Given the description of an element on the screen output the (x, y) to click on. 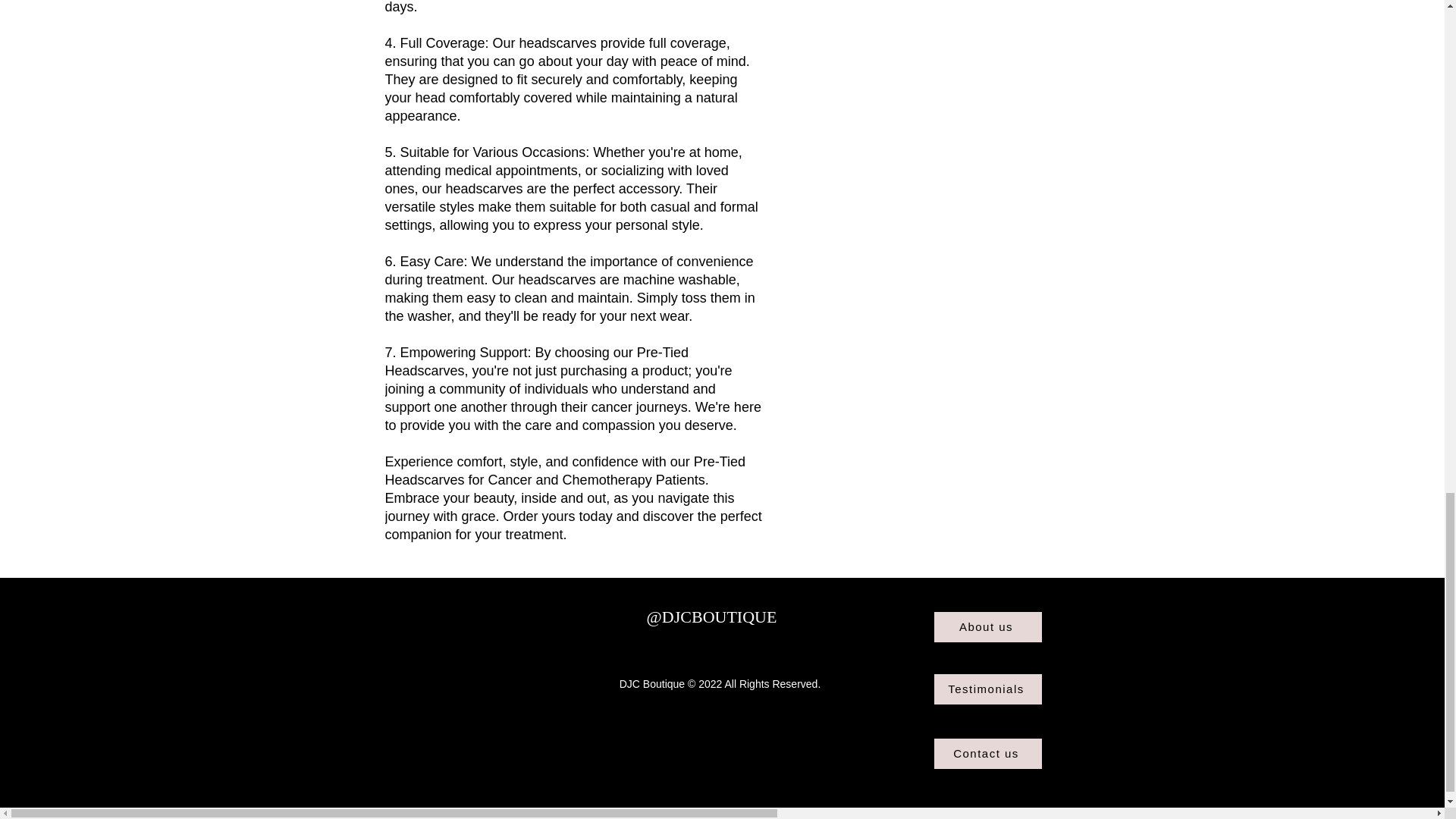
Testimonials (988, 689)
About us (988, 626)
Contact us (988, 753)
